Given the description of an element on the screen output the (x, y) to click on. 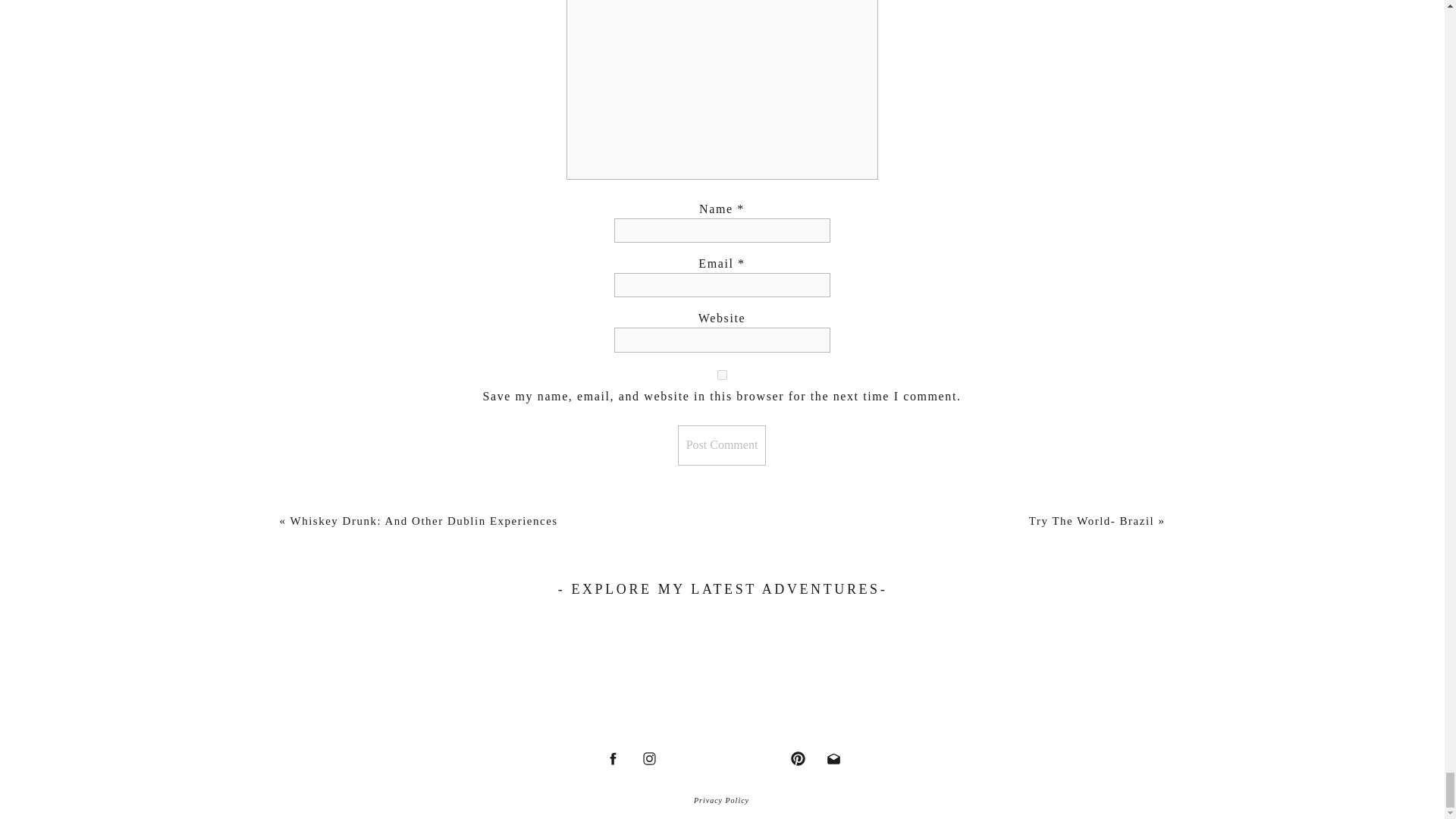
yes (721, 375)
Post Comment (722, 445)
